Given the description of an element on the screen output the (x, y) to click on. 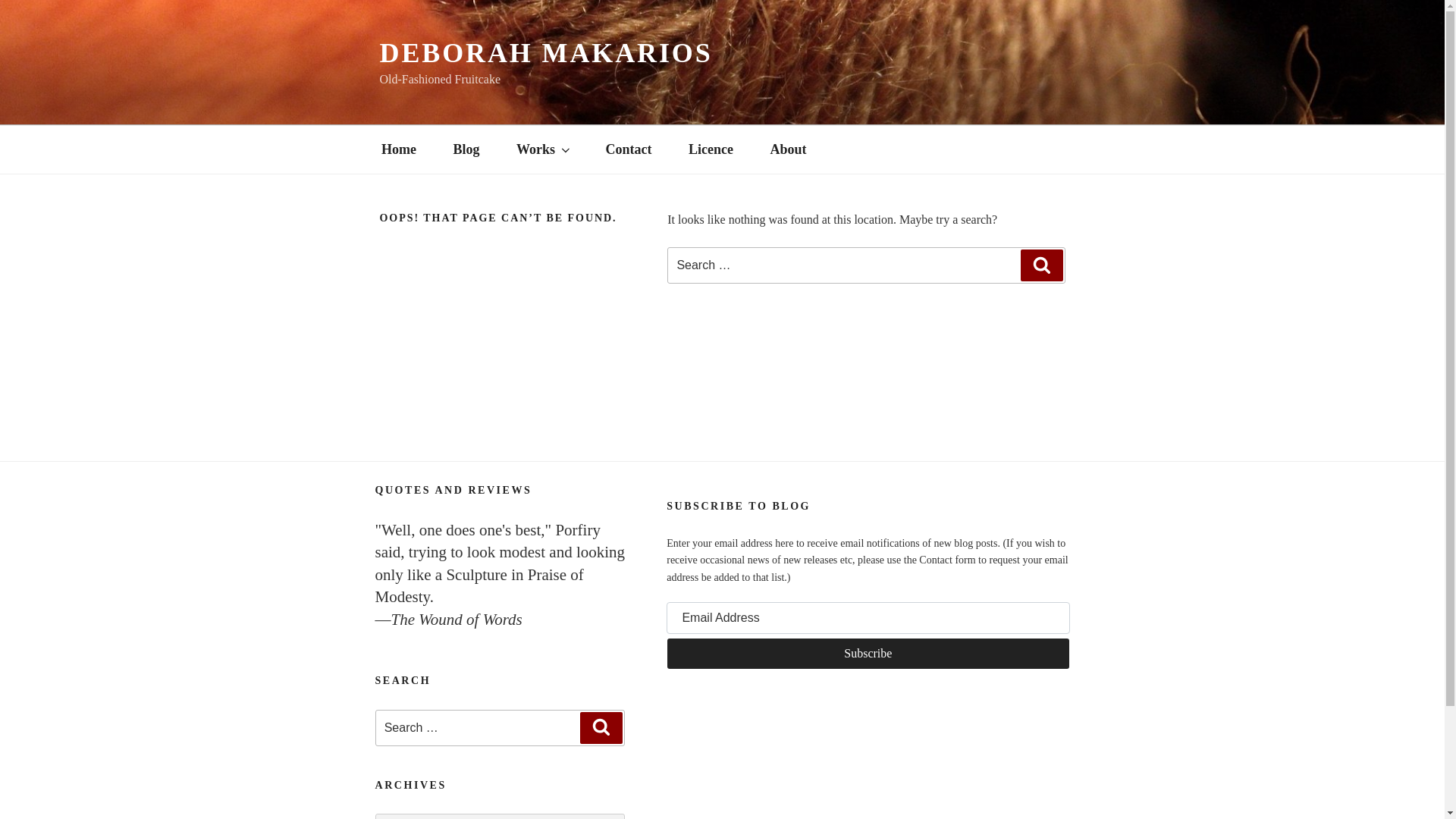
Subscribe (867, 653)
Home (398, 149)
Search (1041, 265)
Licence (711, 149)
DEBORAH MAKARIOS (544, 52)
Search (601, 727)
Works (542, 149)
Blog (465, 149)
About (788, 149)
Subscribe (867, 653)
